Given the description of an element on the screen output the (x, y) to click on. 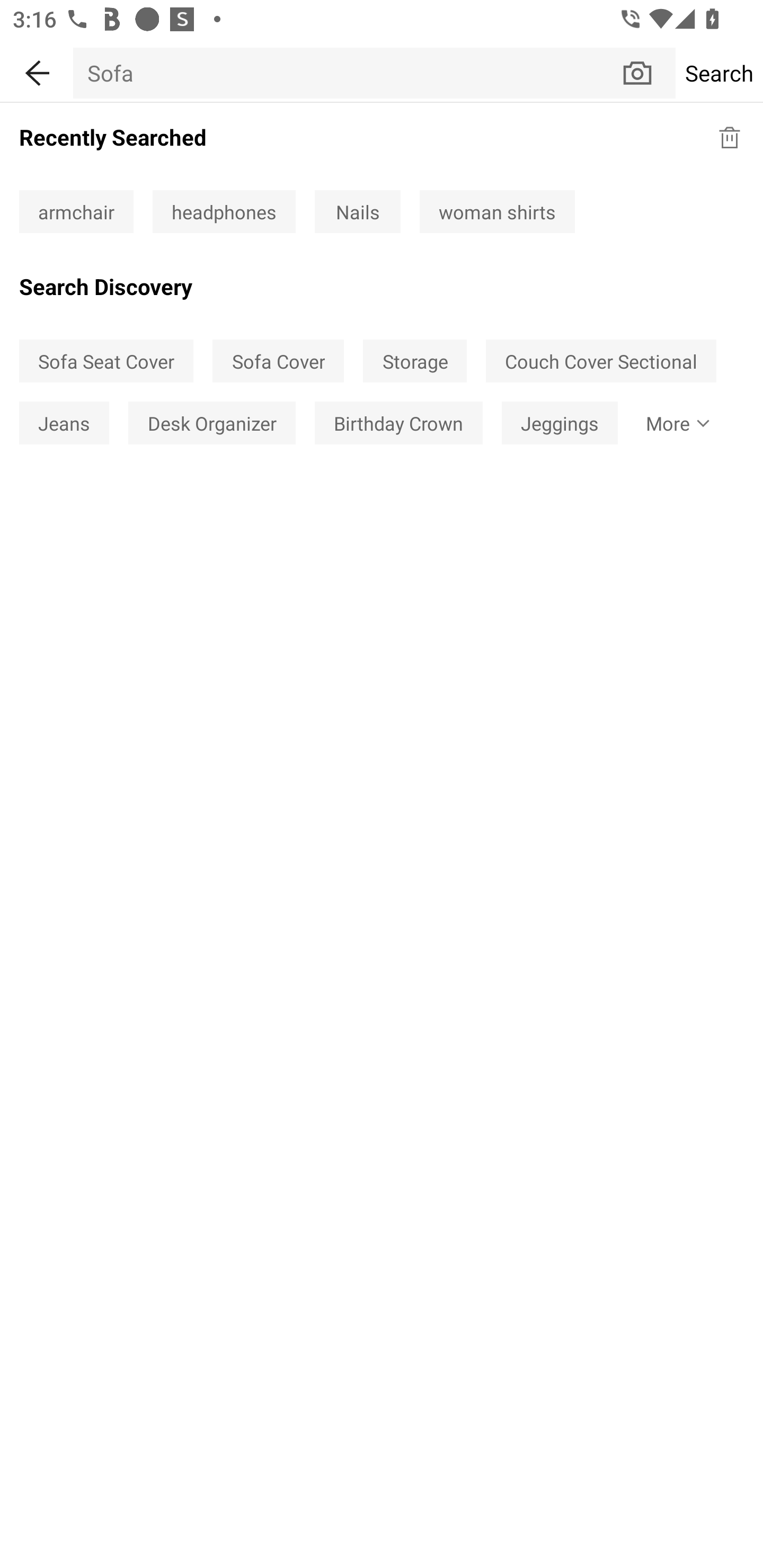
BACK (36, 69)
Sofa (346, 72)
Search (719, 72)
armchair (76, 211)
headphones (224, 211)
Nails (357, 211)
woman shirts (496, 211)
Sofa Seat Cover (106, 361)
Sofa Cover (278, 361)
Storage (414, 361)
Couch Cover Sectional (601, 361)
Jeans (64, 422)
Desk Organizer (212, 422)
Birthday Crown (398, 422)
Jeggings (560, 422)
More (673, 422)
